Given the description of an element on the screen output the (x, y) to click on. 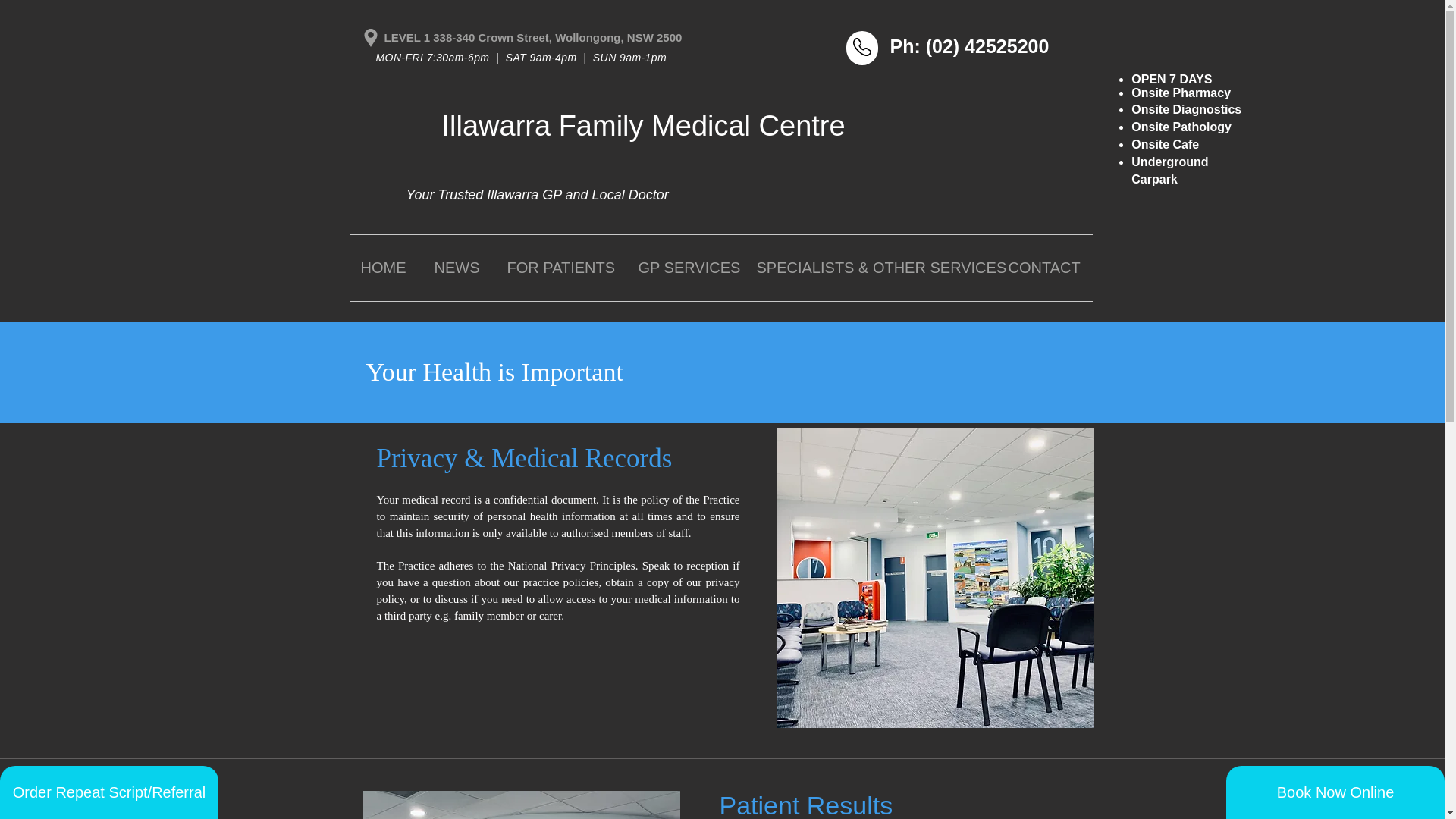
NEWS (459, 268)
GP SERVICES (685, 268)
HOME (385, 268)
Illawarra Family Medical Centre (642, 125)
FOR PATIENTS (561, 268)
CONTACT (1043, 268)
